Given the description of an element on the screen output the (x, y) to click on. 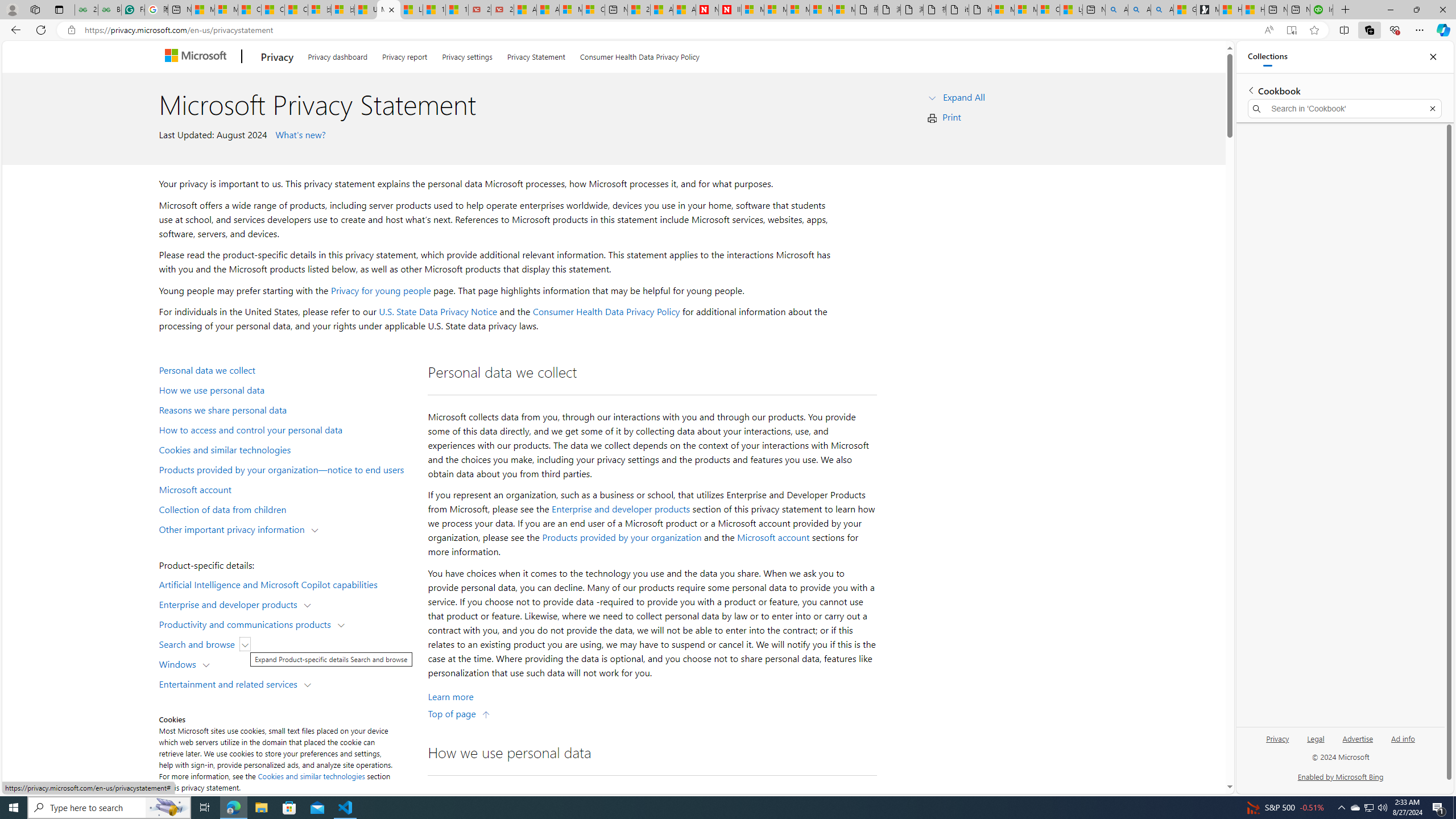
Windows (180, 663)
Privacy report (404, 54)
Alabama high school quarterback dies - Search Videos (1161, 9)
Microsoft account (772, 537)
Exit search (1432, 108)
How to Use a TV as a Computer Monitor (1253, 9)
Cookies and similar technologies (287, 449)
Personal data we collect (287, 368)
Top of page (459, 713)
